Given the description of an element on the screen output the (x, y) to click on. 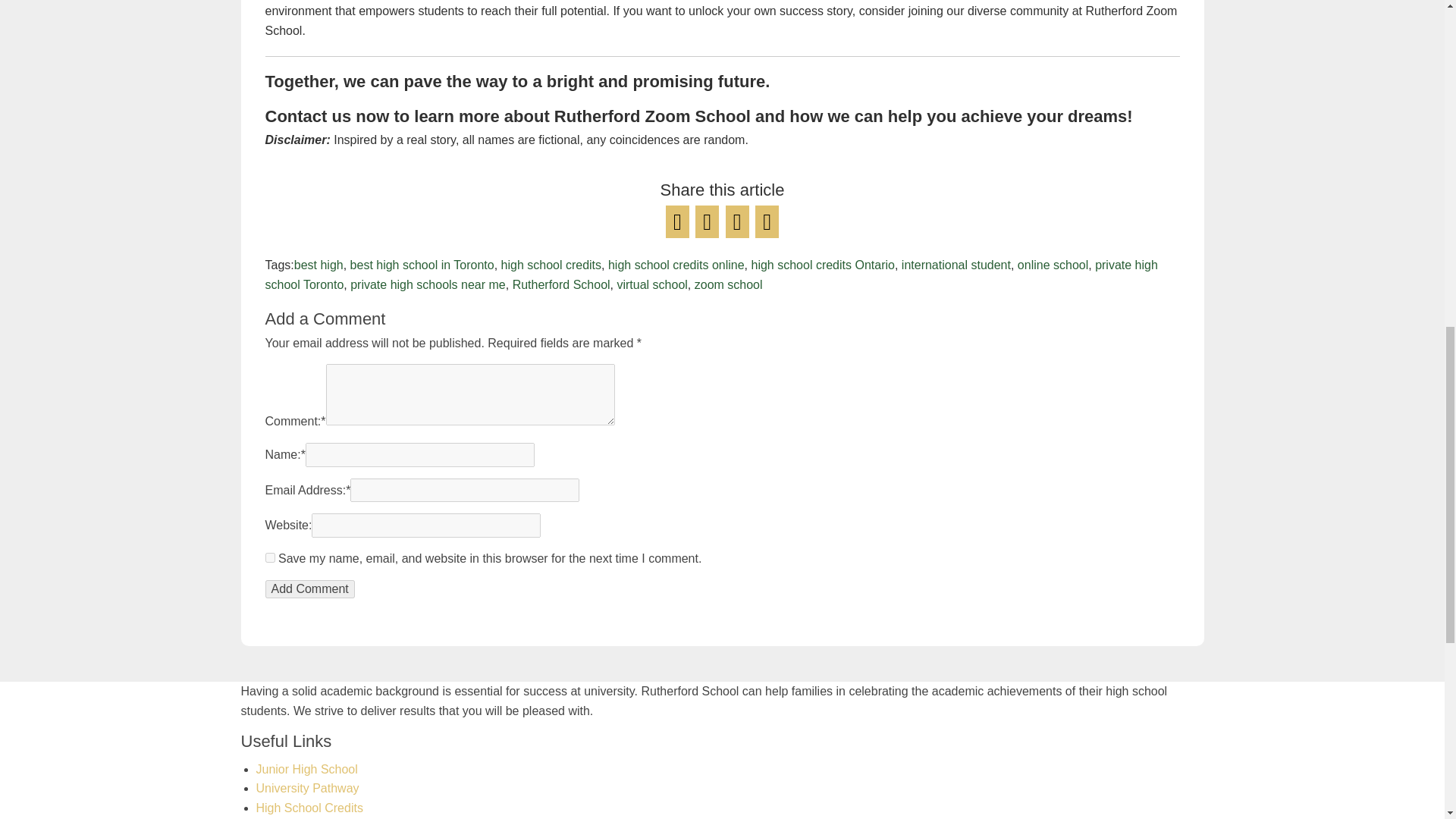
Add Comment (309, 588)
yes (269, 557)
